Given the description of an element on the screen output the (x, y) to click on. 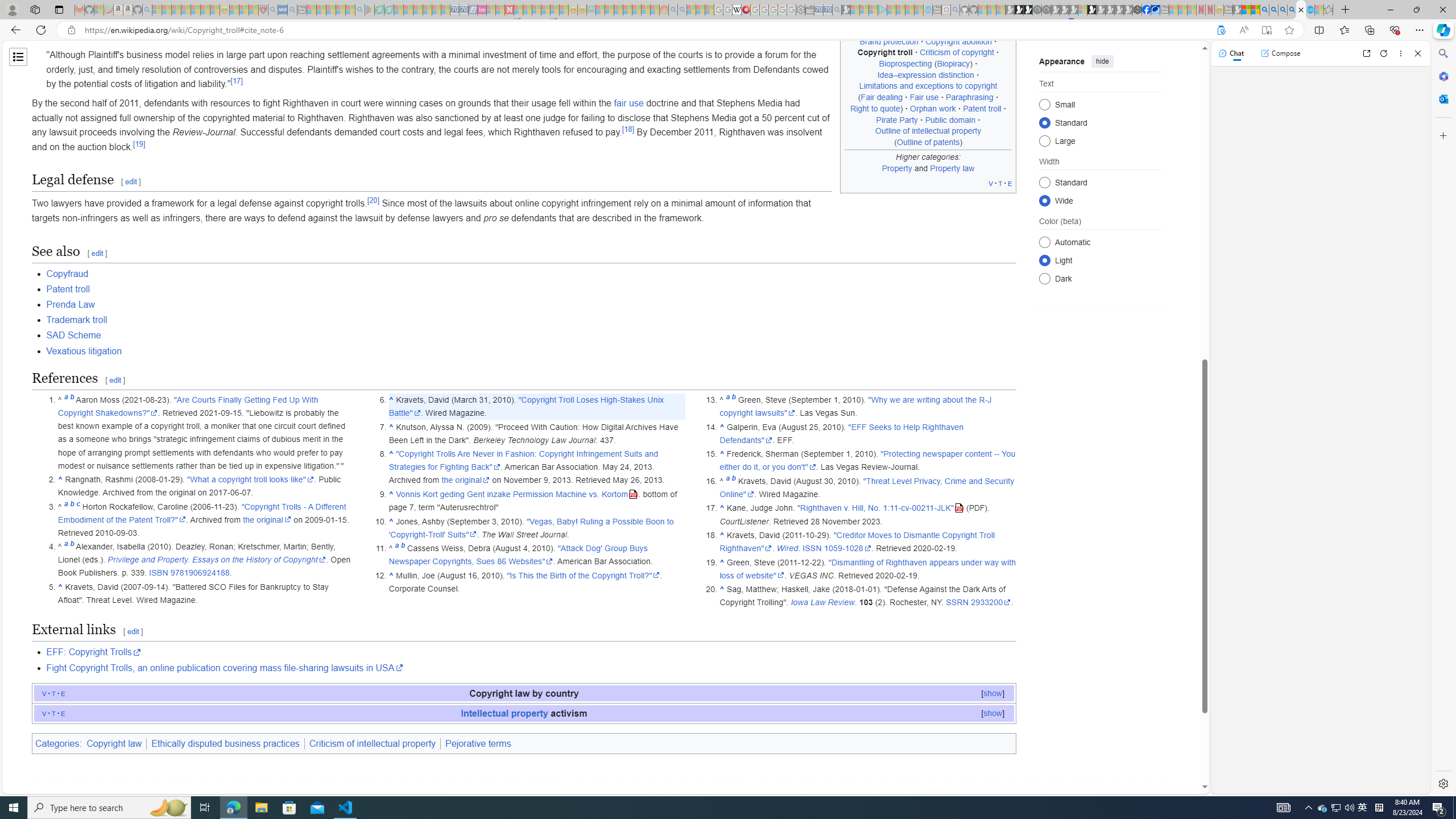
Class: mw-list-item mw-list-item-js (1100, 259)
Trademark troll (531, 319)
hide (1102, 60)
Property law (952, 167)
Robert H. Shmerling, MD - Harvard Health - Sleeping (263, 9)
Latest Politics News & Archive | Newsweek.com - Sleeping (508, 9)
e (63, 712)
utah sues federal government - Search - Sleeping (291, 9)
Wired (786, 548)
2933200 (991, 602)
Patent troll (68, 289)
